Given the description of an element on the screen output the (x, y) to click on. 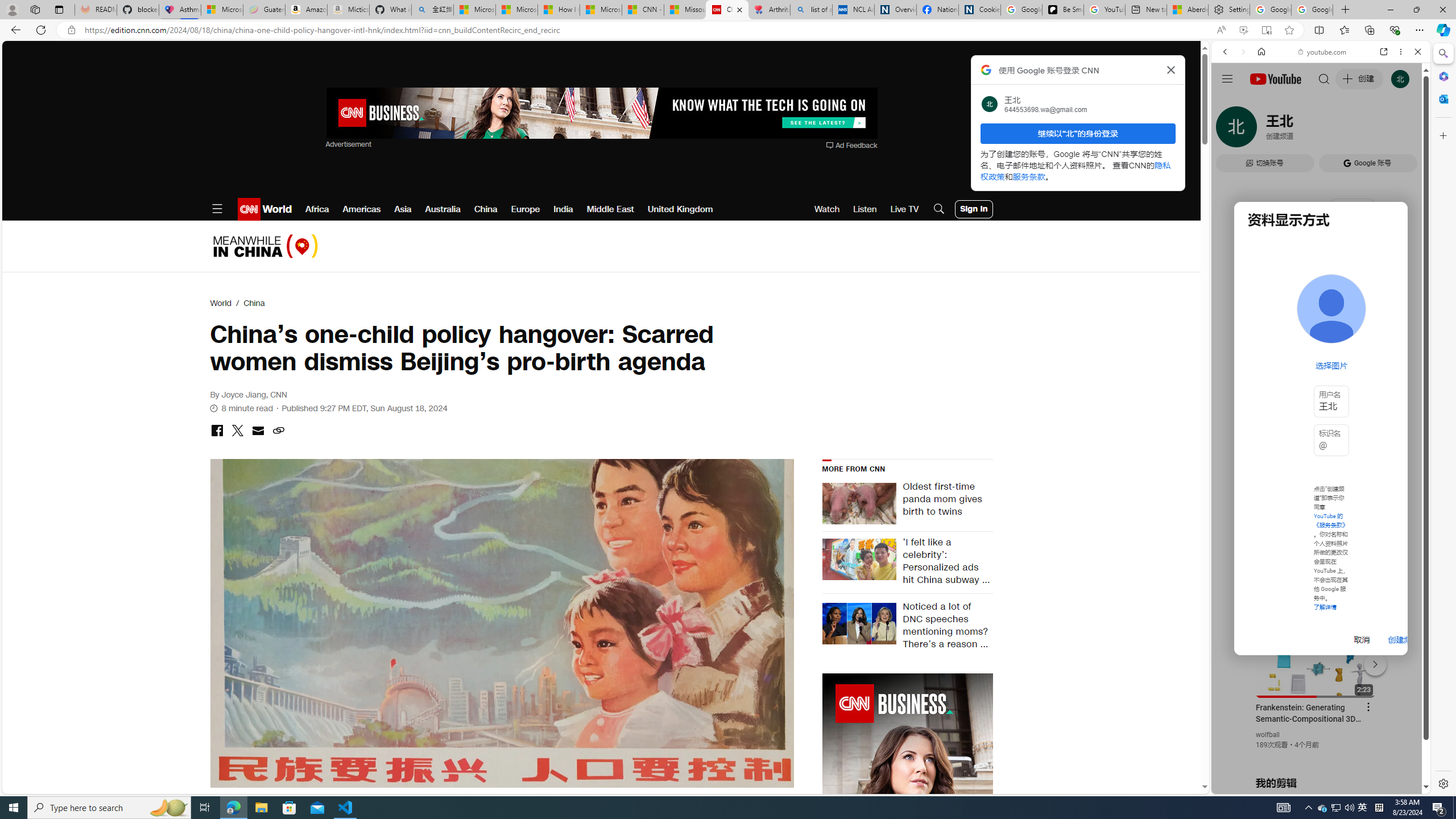
copy link to clipboard (277, 430)
Watch (826, 208)
Search Filter, Search Tools (1350, 129)
US[ju] (1249, 785)
Middle East (610, 209)
Search the web (1326, 78)
Search Filter, VIDEOS (1300, 129)
